Given the description of an element on the screen output the (x, y) to click on. 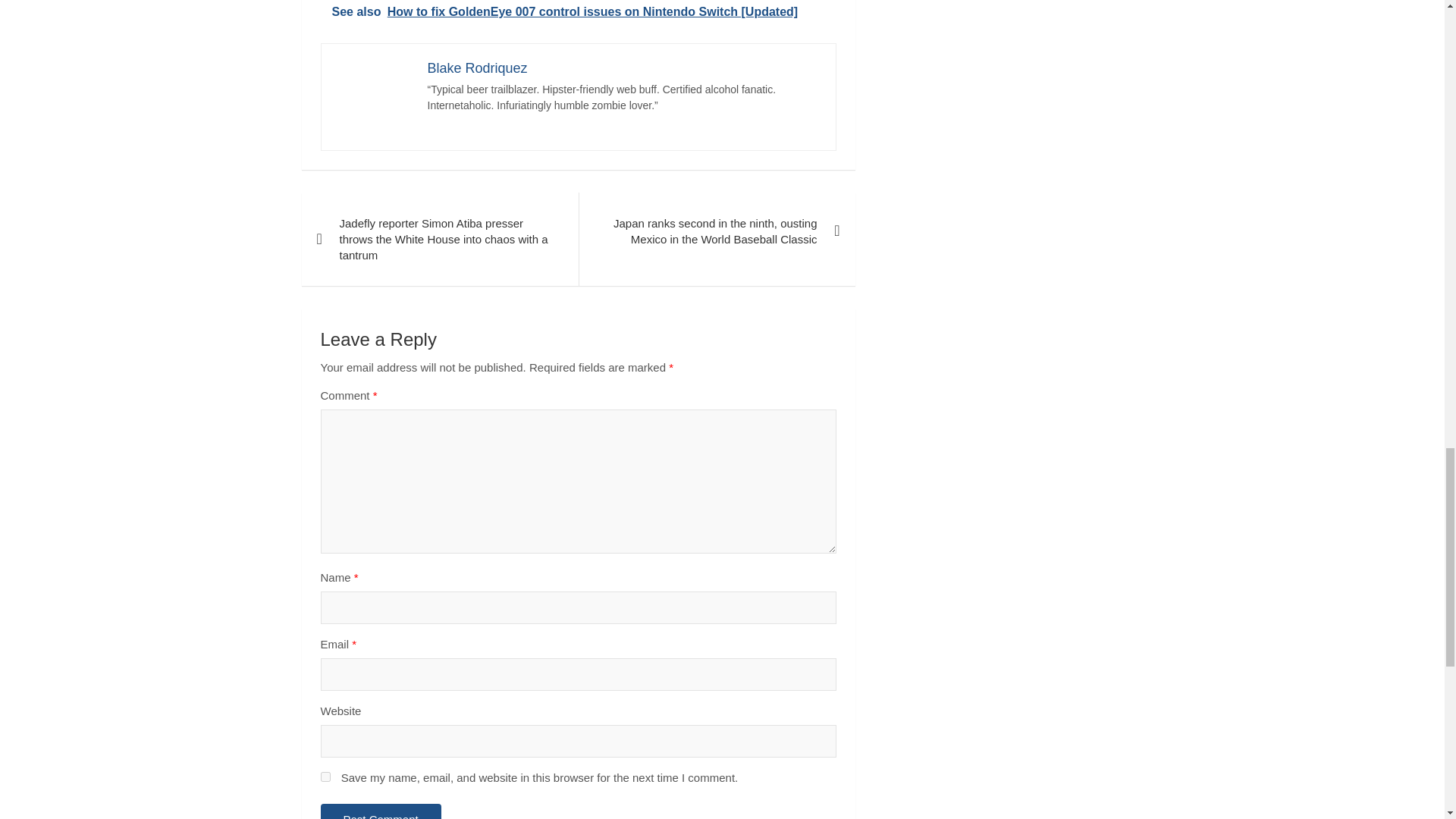
Post Comment (380, 811)
yes (325, 777)
Post Comment (380, 811)
Blake Rodriquez (477, 68)
